Given the description of an element on the screen output the (x, y) to click on. 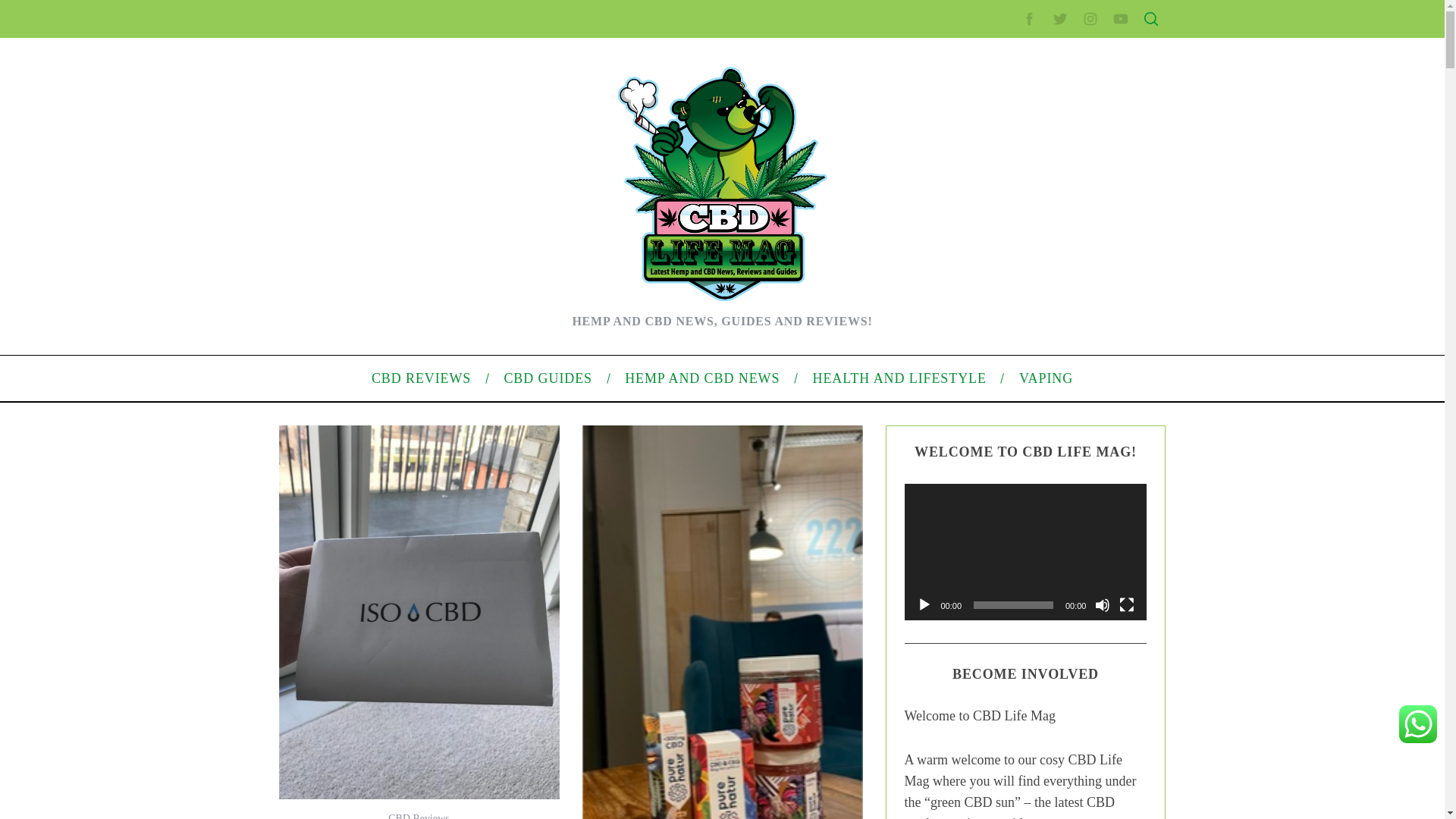
Latest Article (996, 172)
Search for: (1049, 47)
Search (1050, 85)
Blog (976, 510)
Skip to content (34, 9)
read here (474, 494)
Terms of Use (996, 330)
Contact Us (991, 258)
Privacy Policy (999, 306)
CUPCAKEDELIGHTS.CO.UK (433, 28)
Search (1050, 85)
August 2020 (996, 432)
DMCA Policy (996, 282)
discover this (371, 458)
discover here (339, 393)
